Given the description of an element on the screen output the (x, y) to click on. 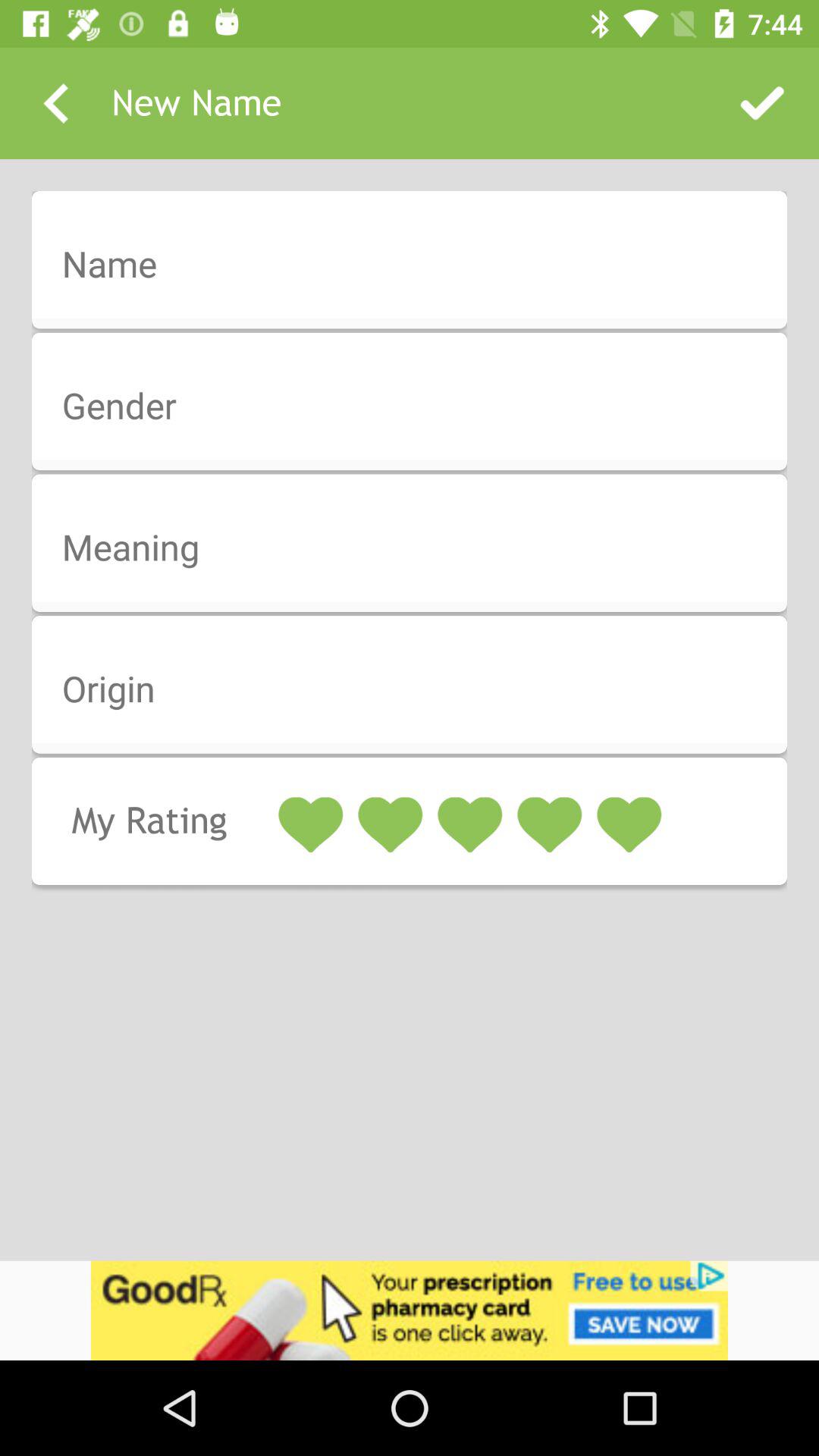
back (55, 103)
